Given the description of an element on the screen output the (x, y) to click on. 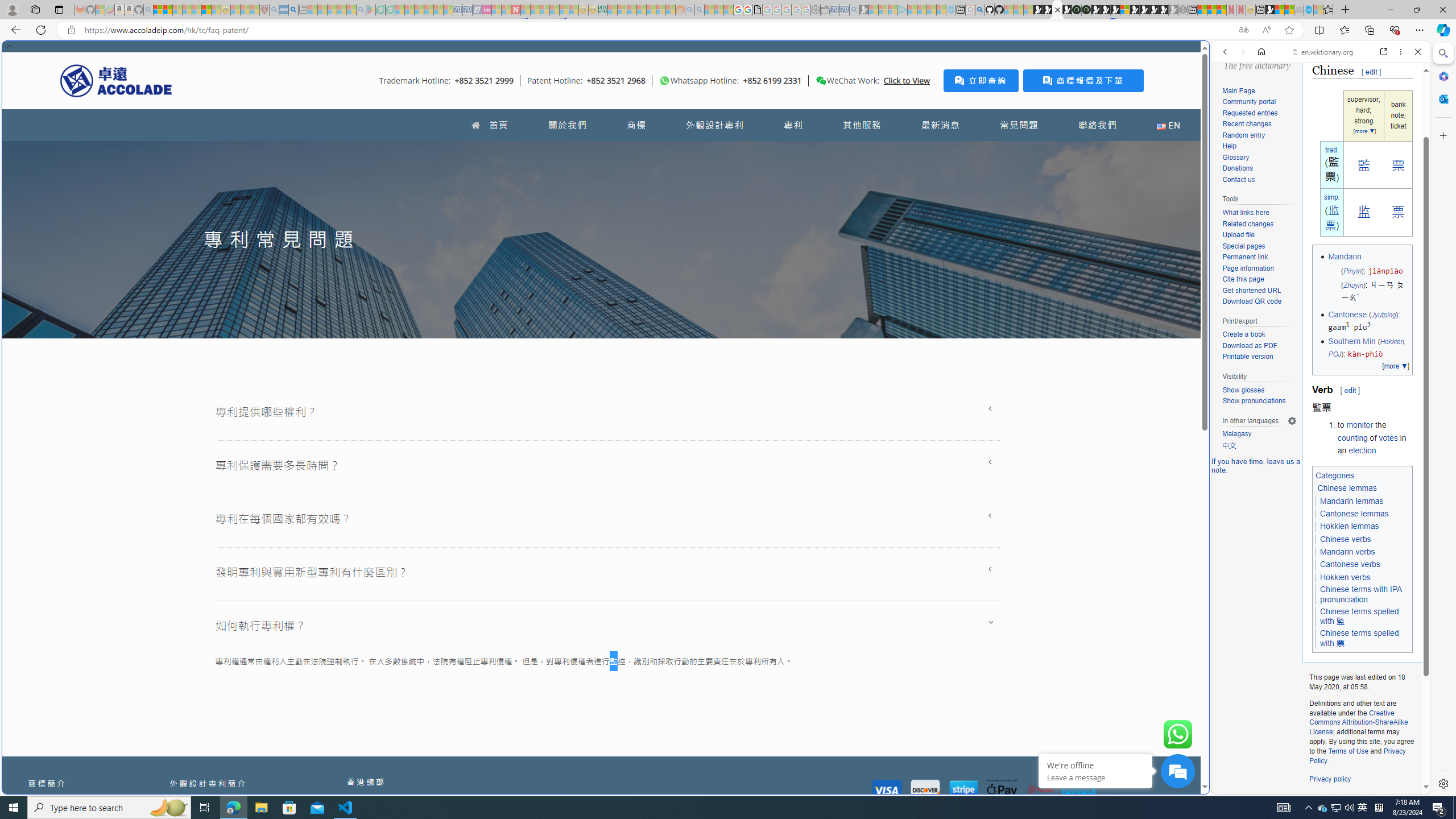
Frequently visited (965, 151)
Creative Commons Attribution-ShareAlike License (1357, 722)
